Given the description of an element on the screen output the (x, y) to click on. 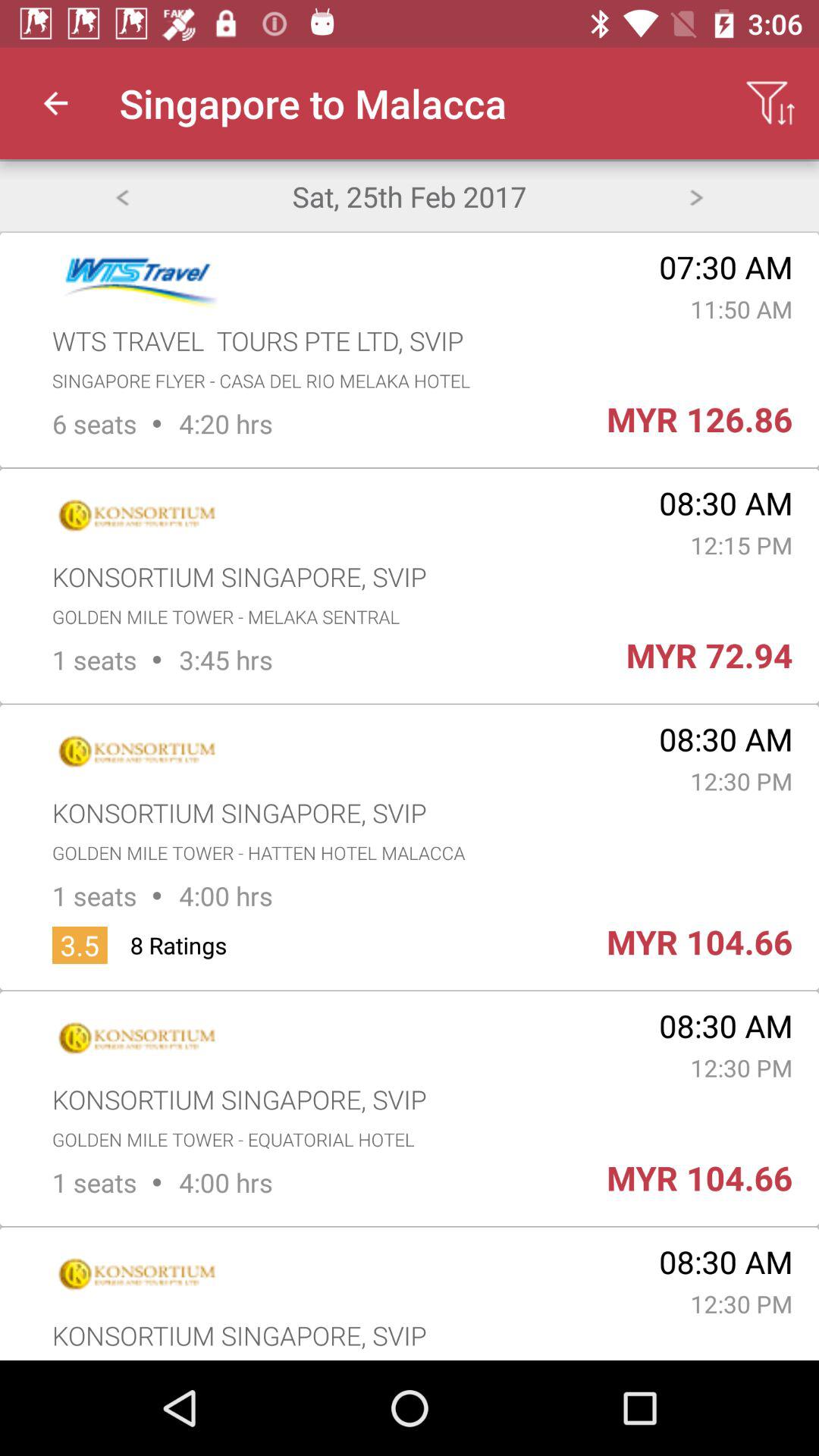
back a day (121, 196)
